Given the description of an element on the screen output the (x, y) to click on. 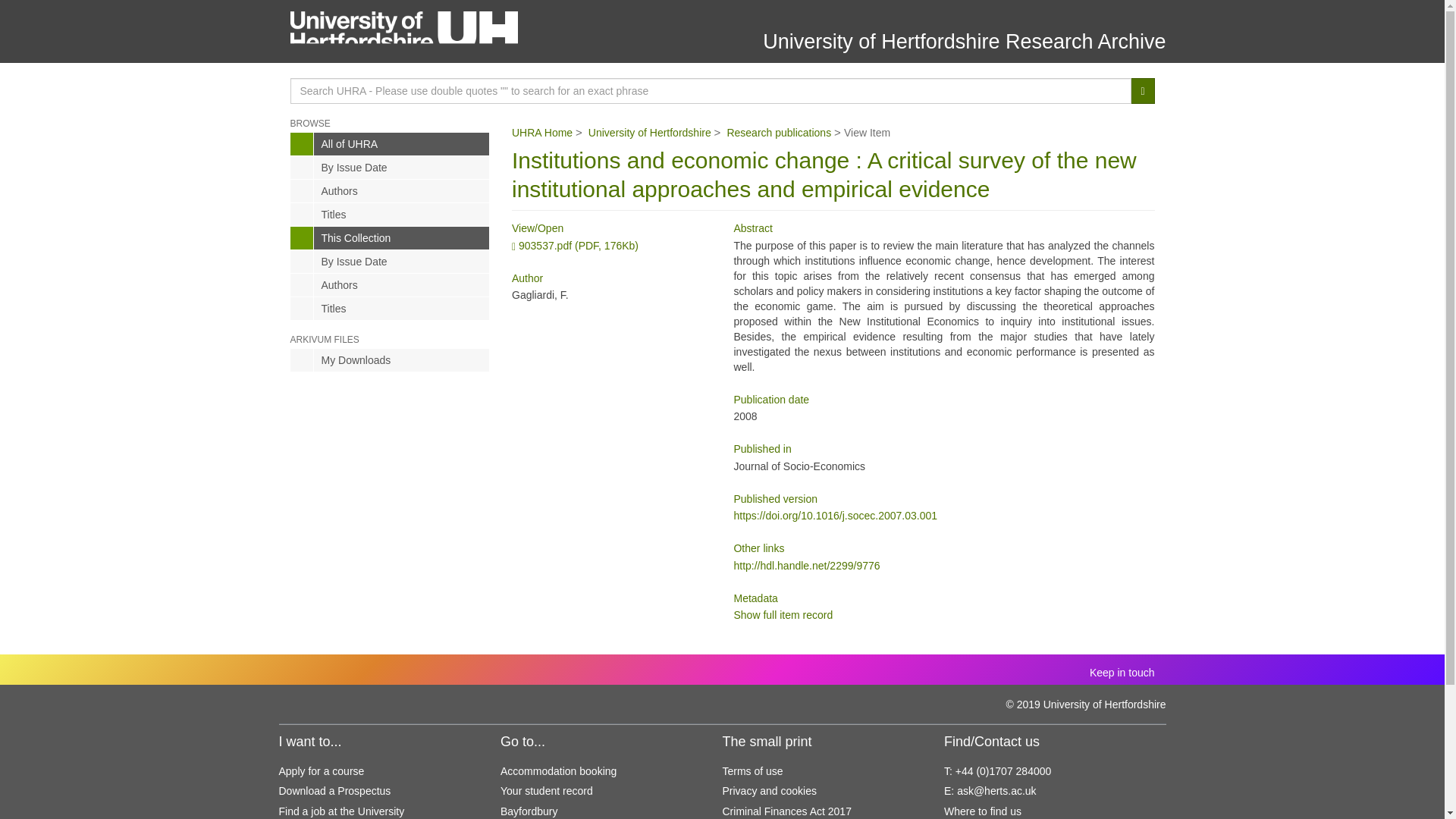
Download a Prospectus (335, 790)
Research publications (778, 132)
All of UHRA (389, 143)
Go (1142, 90)
By Issue Date (389, 167)
Apply for a course (322, 770)
Show full item record (782, 614)
Authors (389, 284)
My Downloads (389, 359)
By Issue Date (389, 261)
